Given the description of an element on the screen output the (x, y) to click on. 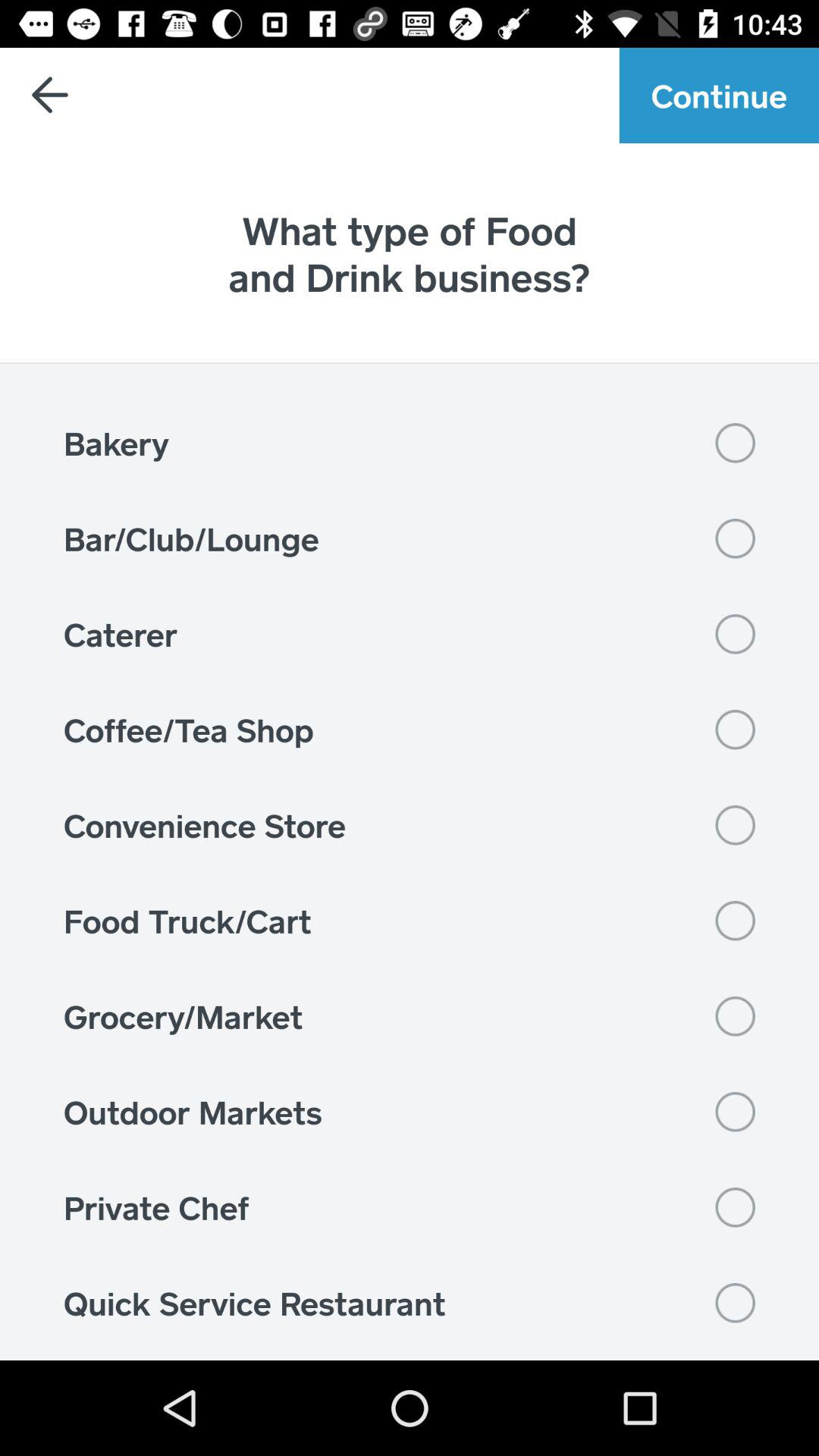
select bar/club/lounge icon (409, 538)
